Given the description of an element on the screen output the (x, y) to click on. 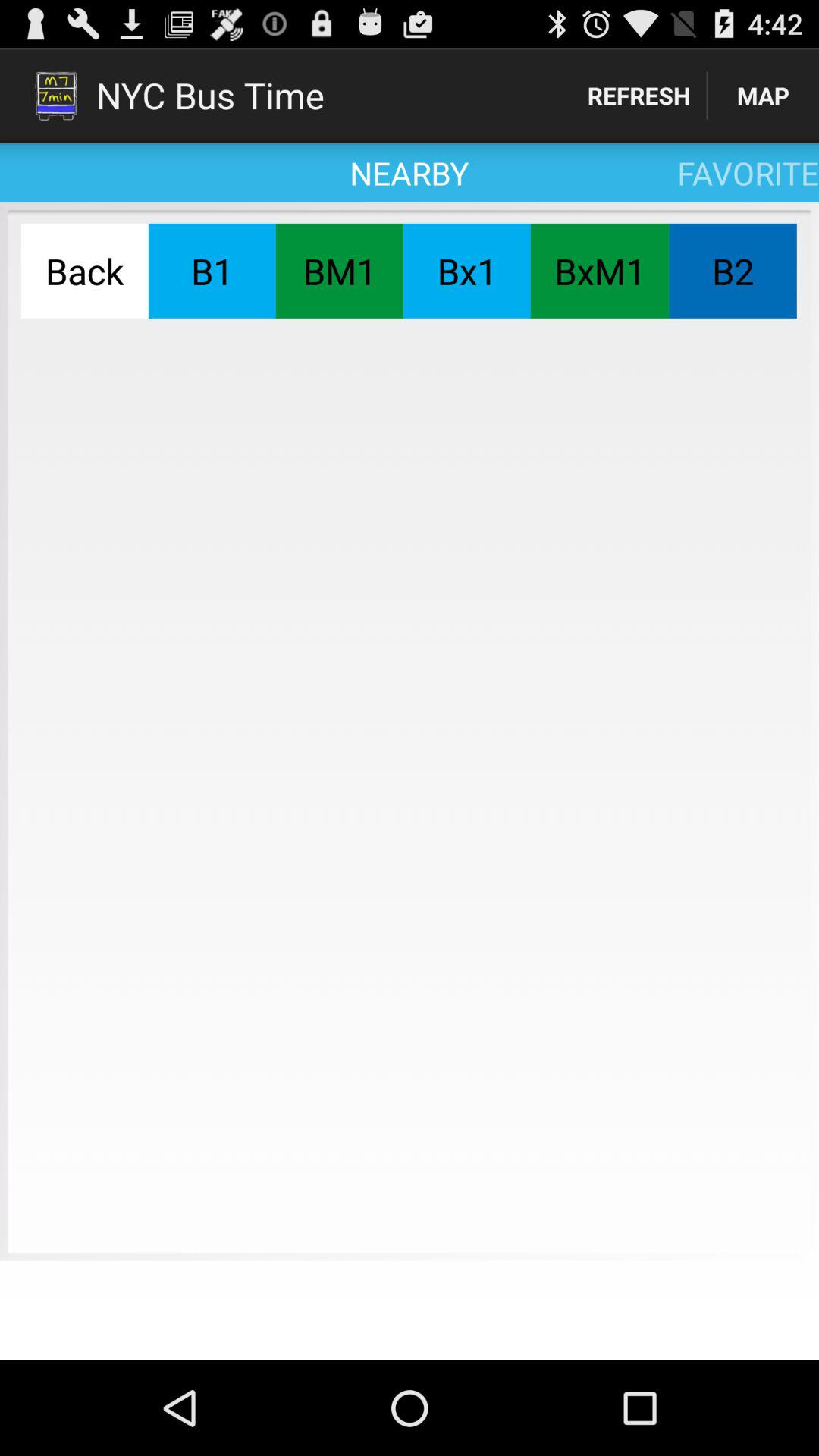
flip to b1 icon (211, 271)
